Given the description of an element on the screen output the (x, y) to click on. 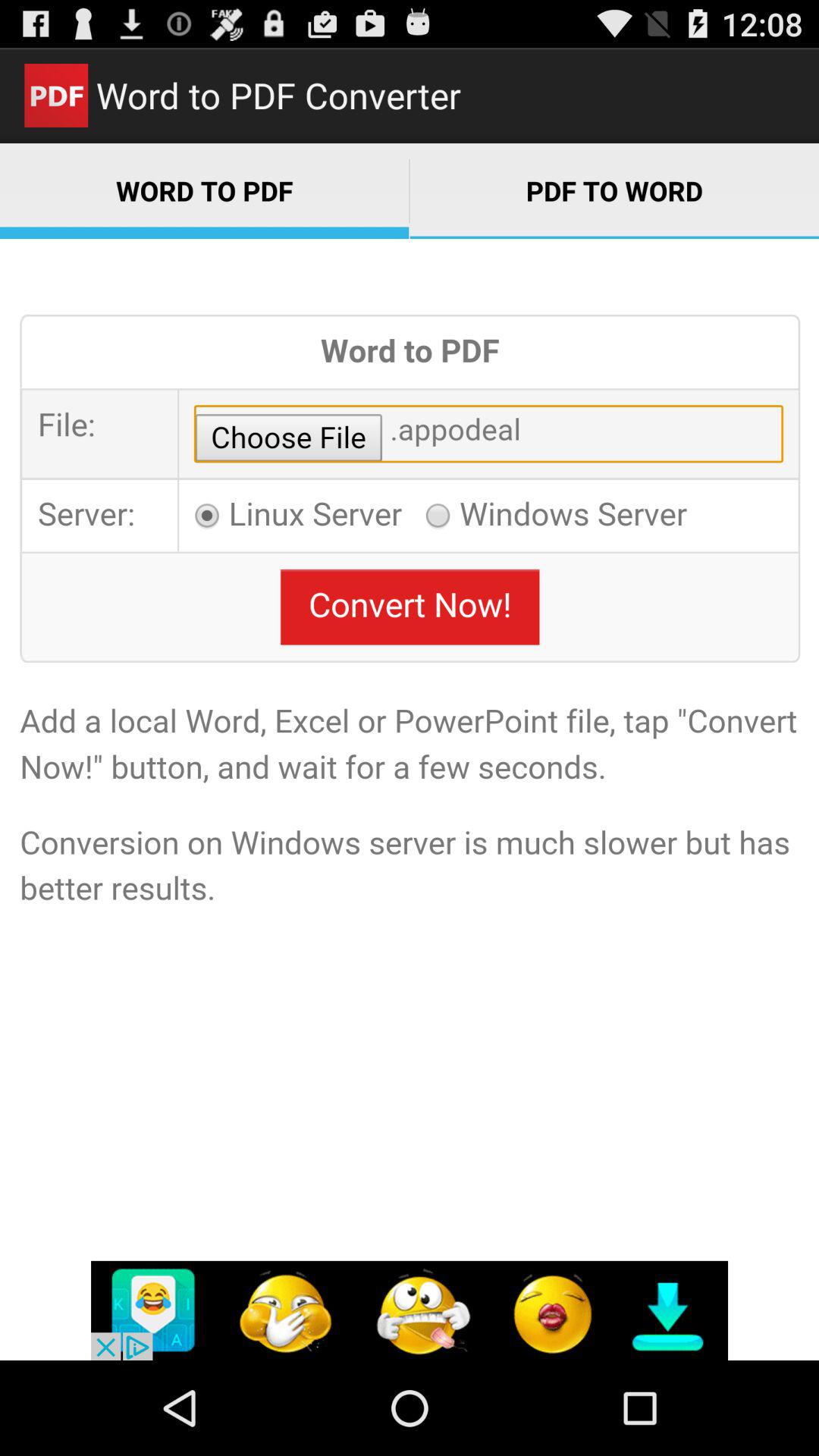
description (409, 799)
